Given the description of an element on the screen output the (x, y) to click on. 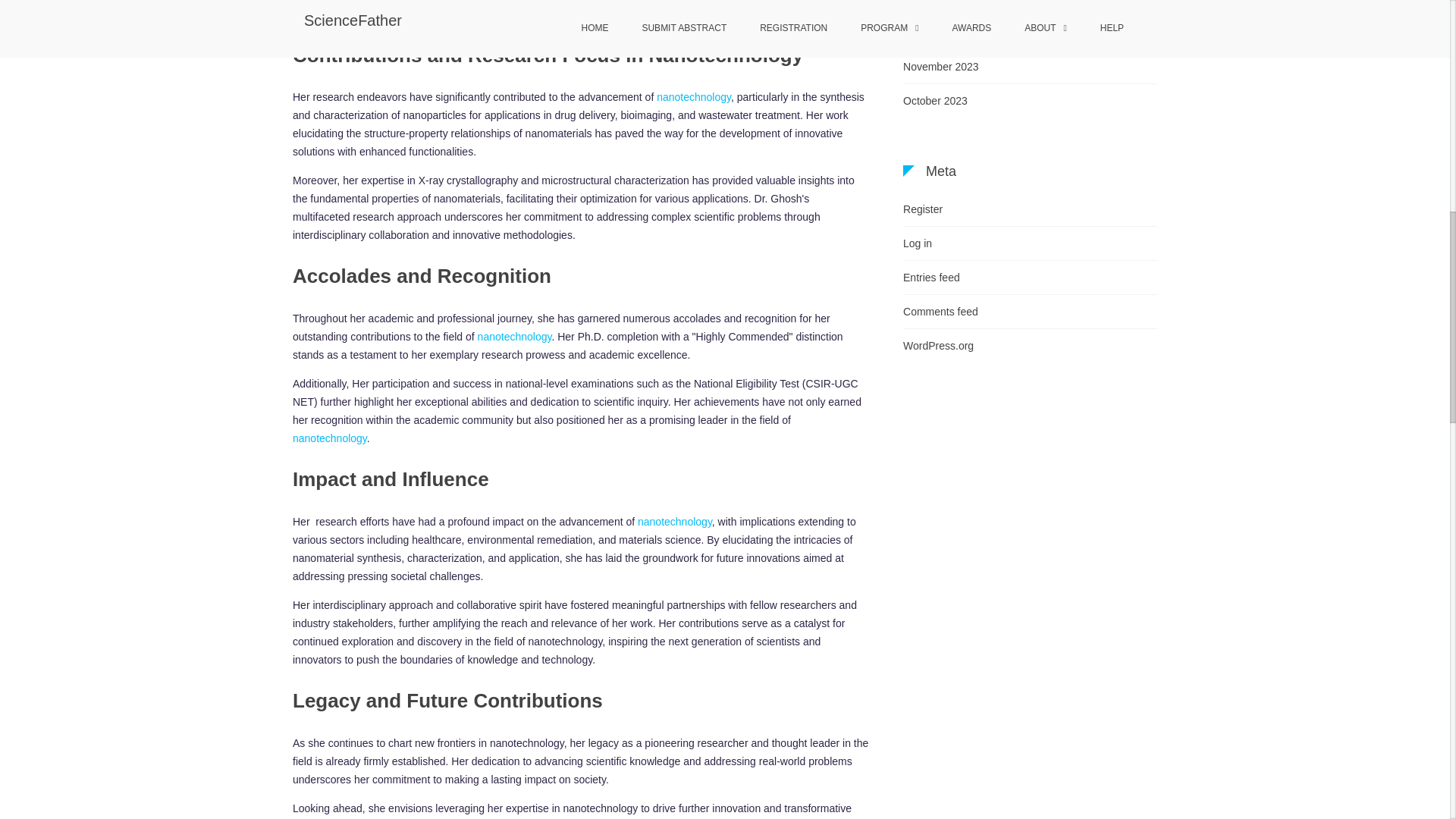
nanotechnology (693, 96)
nanotechnology (514, 336)
